Given the description of an element on the screen output the (x, y) to click on. 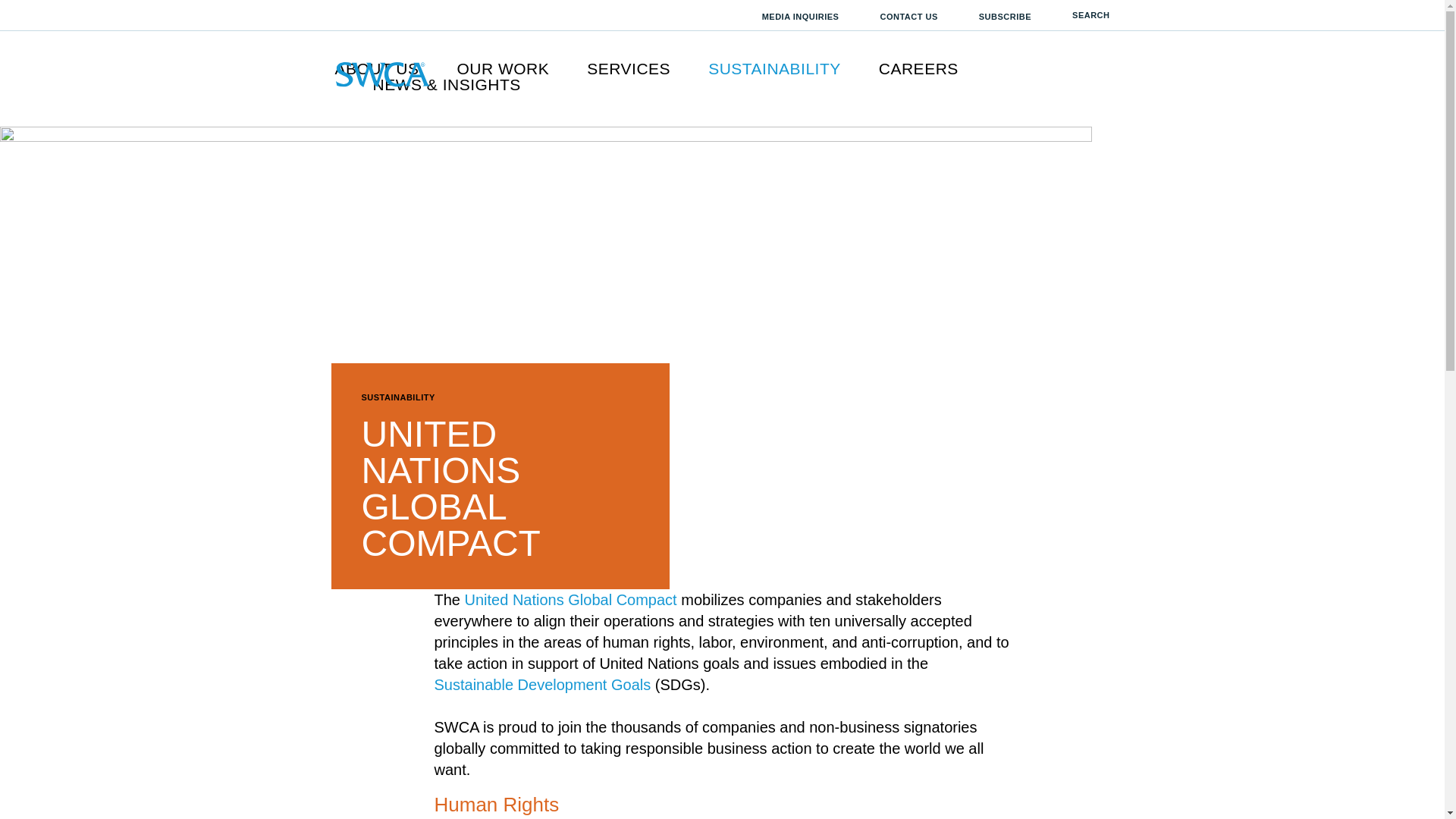
SERVICES (627, 67)
SWCA (382, 74)
OUR WORK (502, 67)
SWCA (382, 74)
ABOUT US (376, 67)
Home (382, 74)
